Given the description of an element on the screen output the (x, y) to click on. 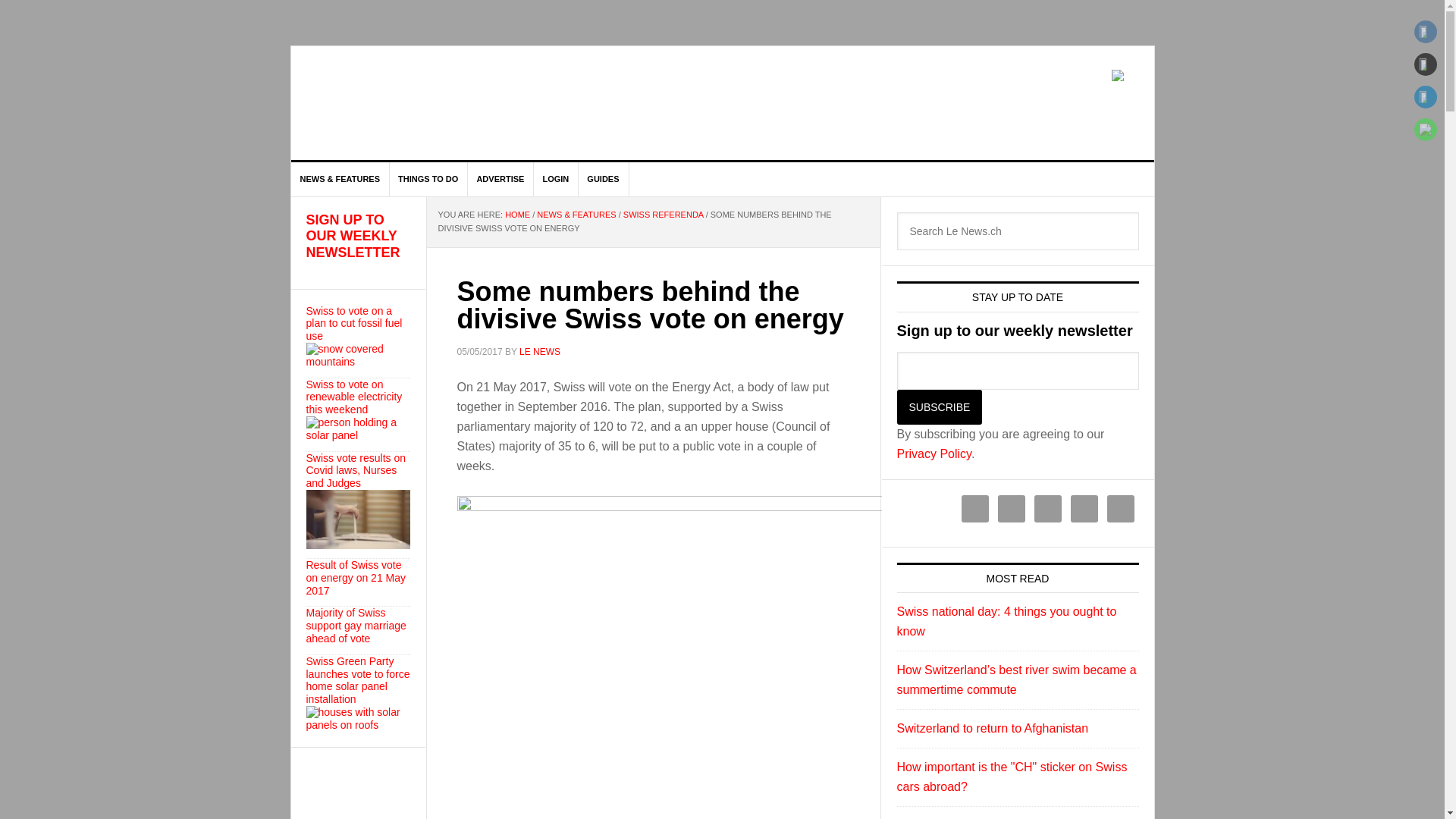
THINGS TO DO (427, 179)
WhatsApp (1425, 128)
ADVERTISE (500, 179)
Subscribe (938, 407)
SWISS REFERENDA (663, 214)
LE NEWS (419, 102)
GUIDES (603, 179)
HOME (517, 214)
LOGIN (555, 179)
LE NEWS (539, 351)
